Given the description of an element on the screen output the (x, y) to click on. 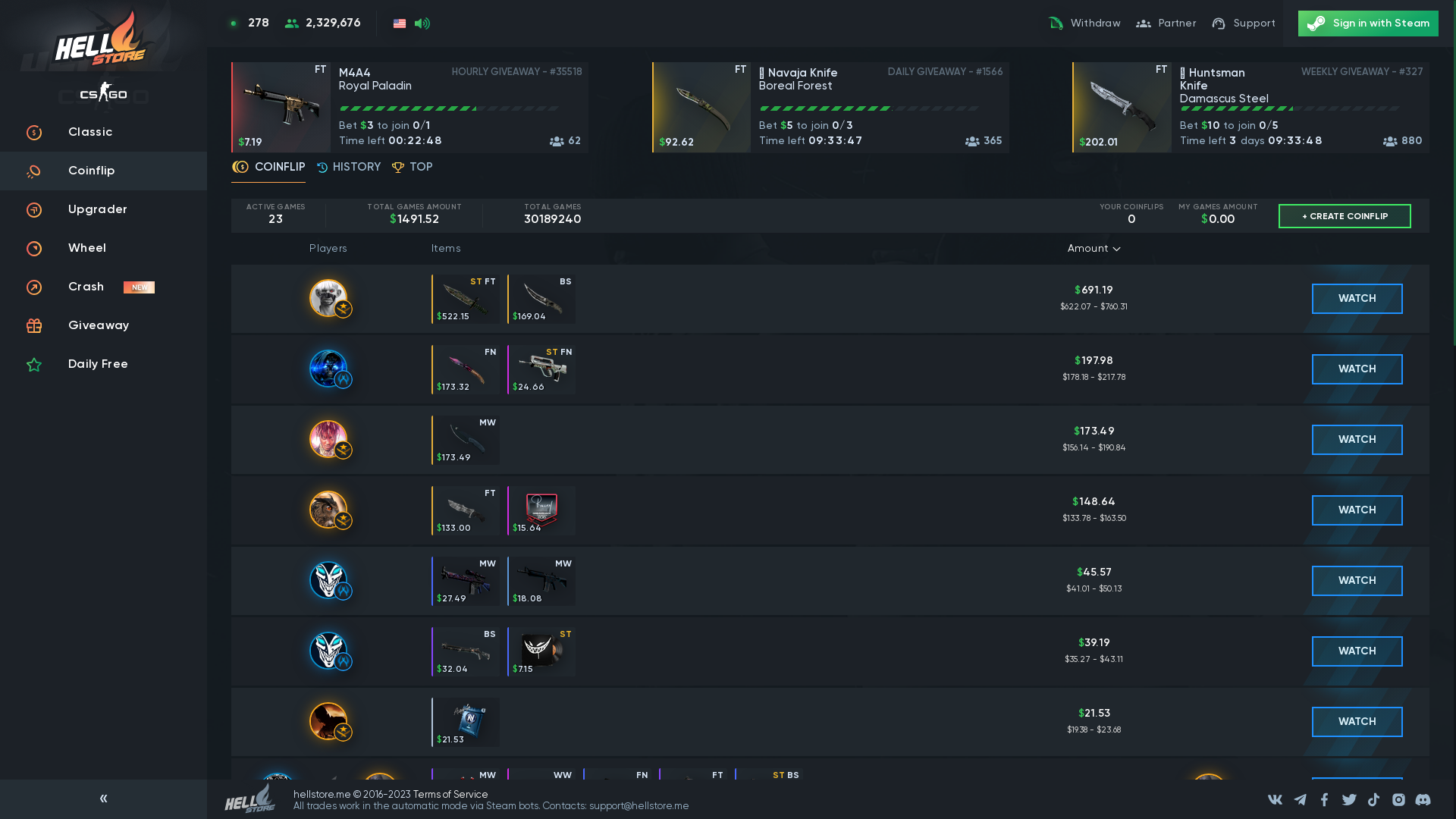
Sign in with Steam Element type: text (1368, 23)
Terms of Service Element type: text (450, 795)
Crash Element type: text (103, 286)
TOP Element type: text (412, 170)
Daily Free Element type: text (103, 364)
Wheel Element type: text (103, 248)
COINFLIP Element type: text (268, 170)
HISTORY Element type: text (348, 170)
Partner Element type: text (1165, 23)
Coinflip Element type: text (103, 170)
Support Element type: text (1243, 23)
Upgrader Element type: text (103, 209)
Classic Element type: text (103, 131)
Withdraw Element type: text (1084, 23)
Giveaway Element type: text (103, 325)
